Given the description of an element on the screen output the (x, y) to click on. 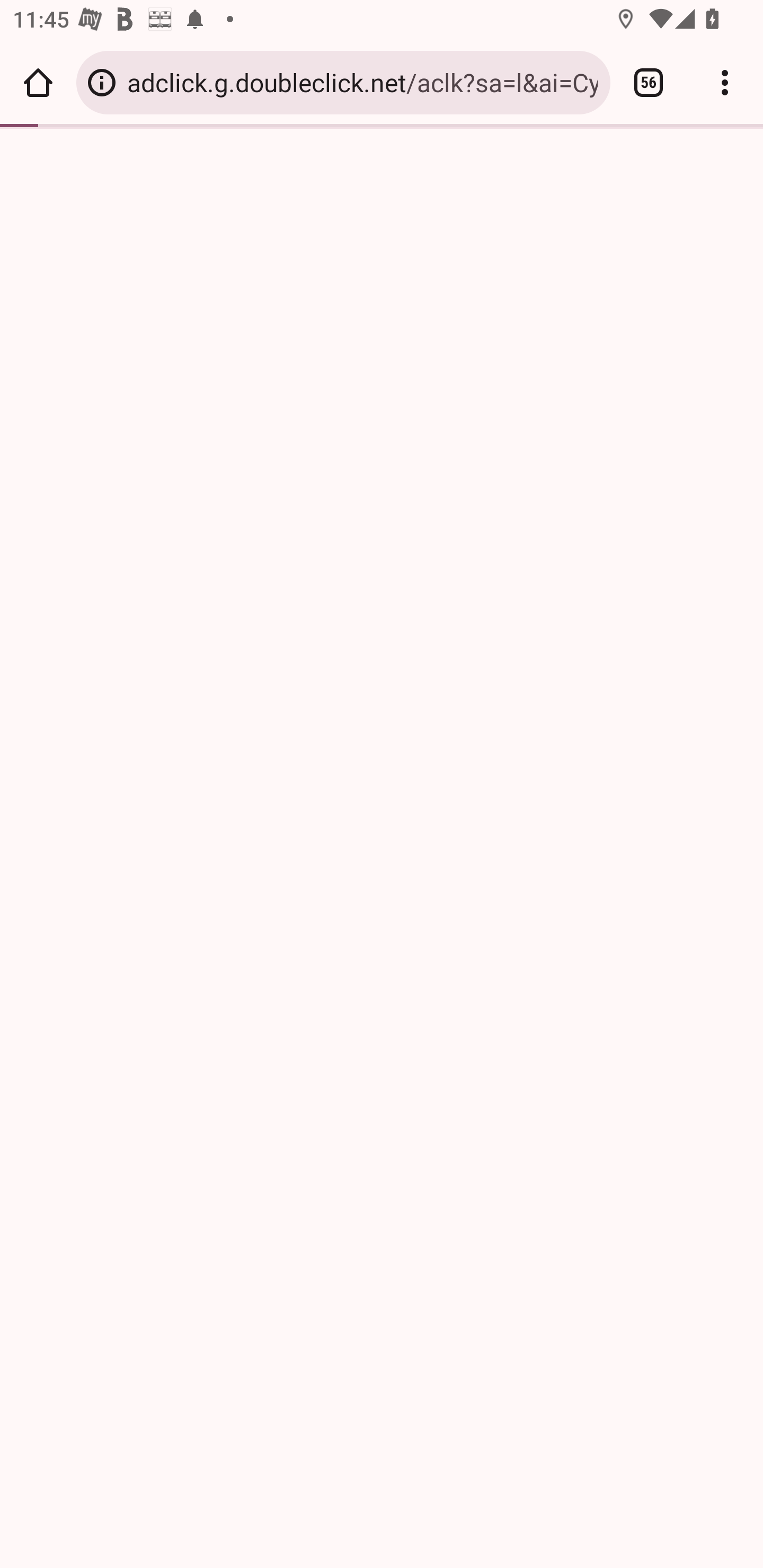
Open the home page (38, 82)
Your connection to this site is not secure (101, 82)
Switch or close tabs (648, 82)
Customize and control Google Chrome (724, 82)
